Given the description of an element on the screen output the (x, y) to click on. 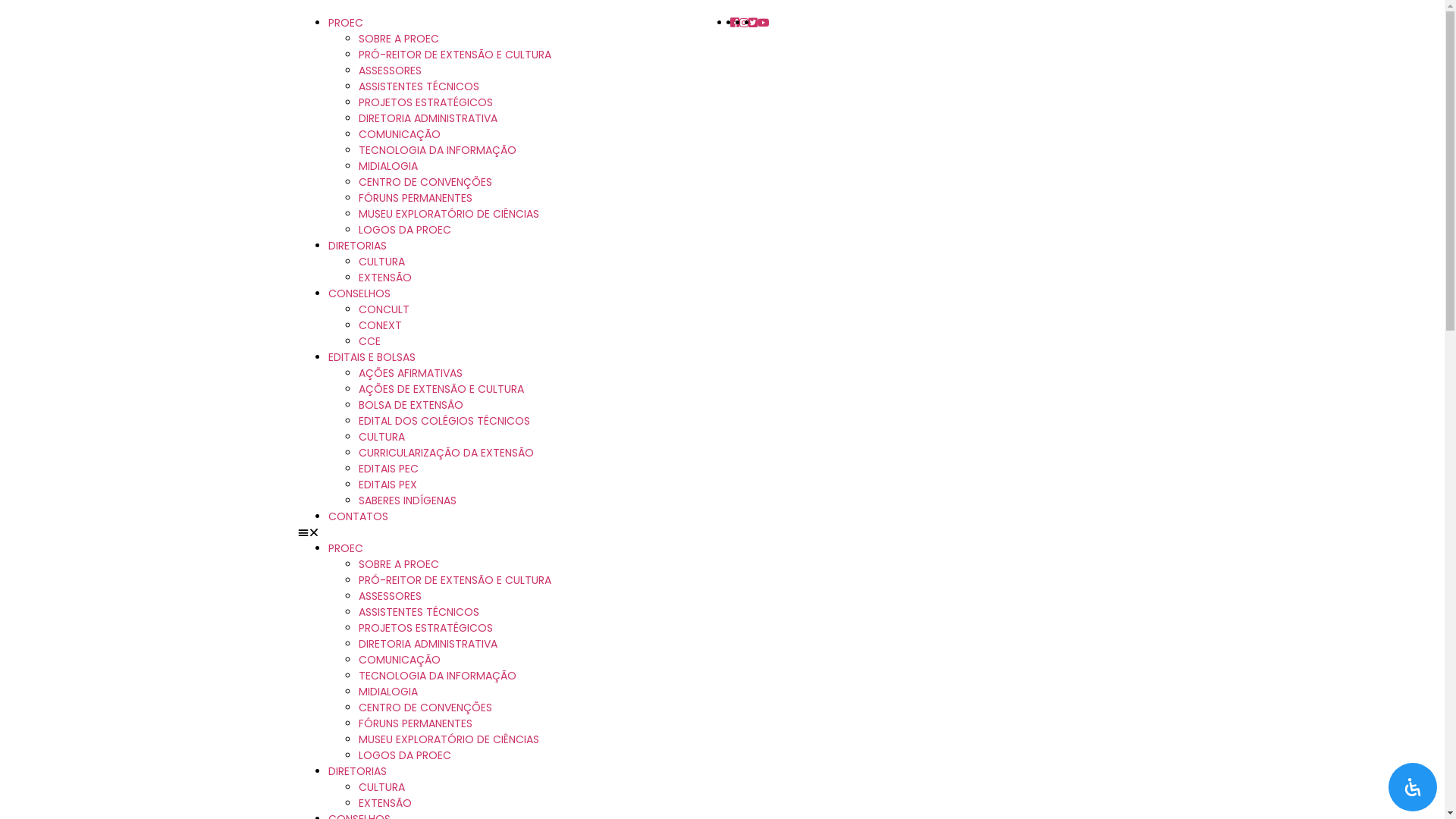
CULTURA Element type: text (380, 436)
DIRETORIA ADMINISTRATIVA Element type: text (426, 643)
CULTURA Element type: text (380, 786)
EDITAIS PEC Element type: text (387, 468)
PROEC Element type: text (344, 547)
Acessibilidade Element type: hover (1412, 786)
PROEC Element type: text (344, 22)
CULTURA Element type: text (380, 261)
ASSESSORES Element type: text (388, 595)
SOBRE A PROEC Element type: text (397, 38)
SOBRE A PROEC Element type: text (397, 563)
DIRETORIAS Element type: text (356, 770)
DIRETORIAS Element type: text (356, 245)
EDITAIS E BOLSAS Element type: text (370, 356)
CONEXT Element type: text (379, 324)
DIRETORIA ADMINISTRATIVA Element type: text (426, 117)
MIDIALOGIA Element type: text (387, 165)
MIDIALOGIA Element type: text (387, 691)
LOGOS DA PROEC Element type: text (403, 229)
ASSESSORES Element type: text (388, 70)
EDITAIS PEX Element type: text (386, 484)
CONSELHOS Element type: text (358, 293)
CONCULT Element type: text (382, 308)
LOGOS DA PROEC Element type: text (403, 754)
CCE Element type: text (368, 340)
CONTATOS Element type: text (357, 516)
